Given the description of an element on the screen output the (x, y) to click on. 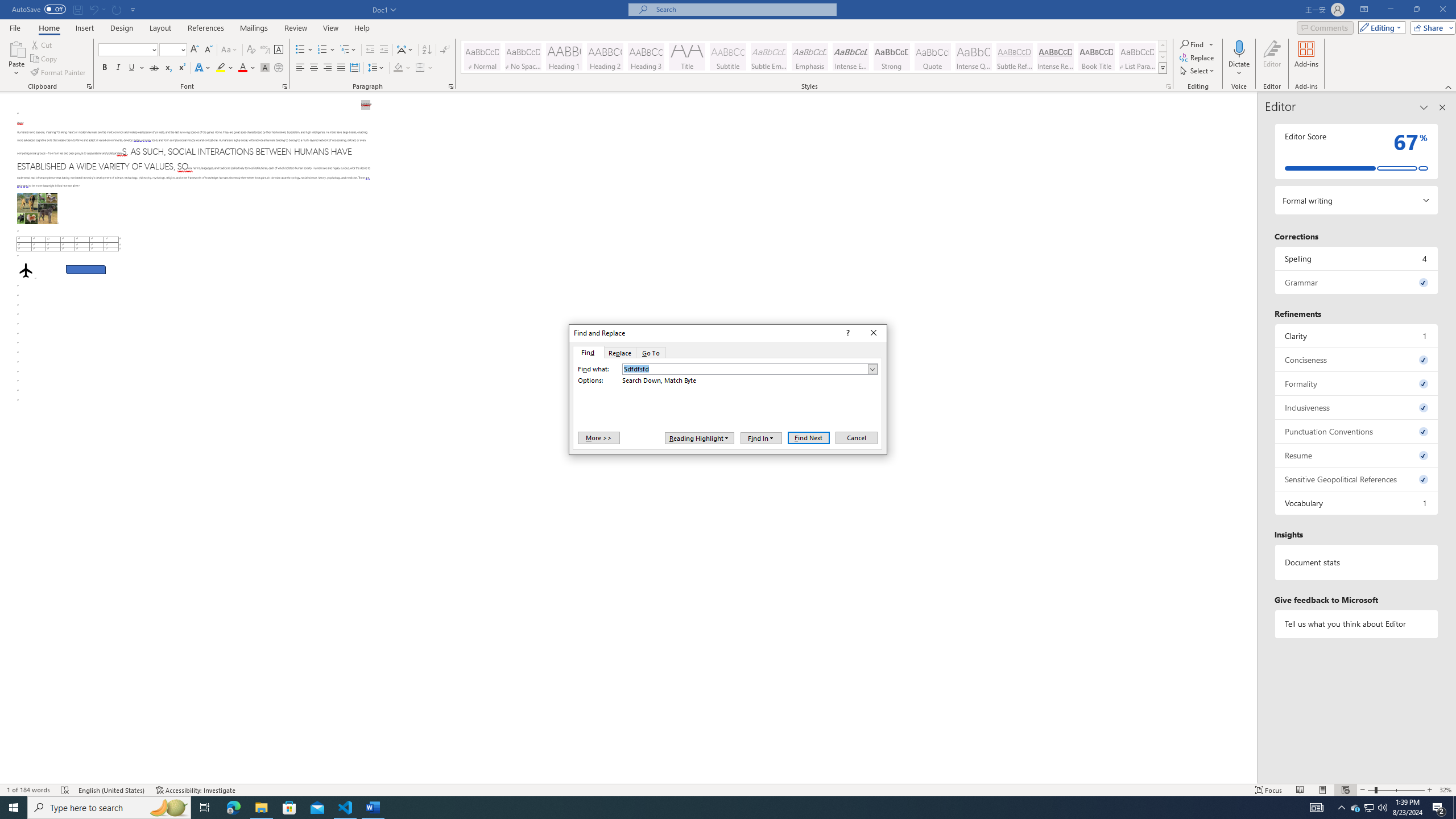
Go To (651, 352)
Morphological variation in six dogs (36, 208)
Zoom 32% (1445, 790)
Find In (761, 437)
Show desktop (1454, 807)
Undo Paragraph Alignment (92, 9)
MSO Generic Control Container (699, 437)
